Given the description of an element on the screen output the (x, y) to click on. 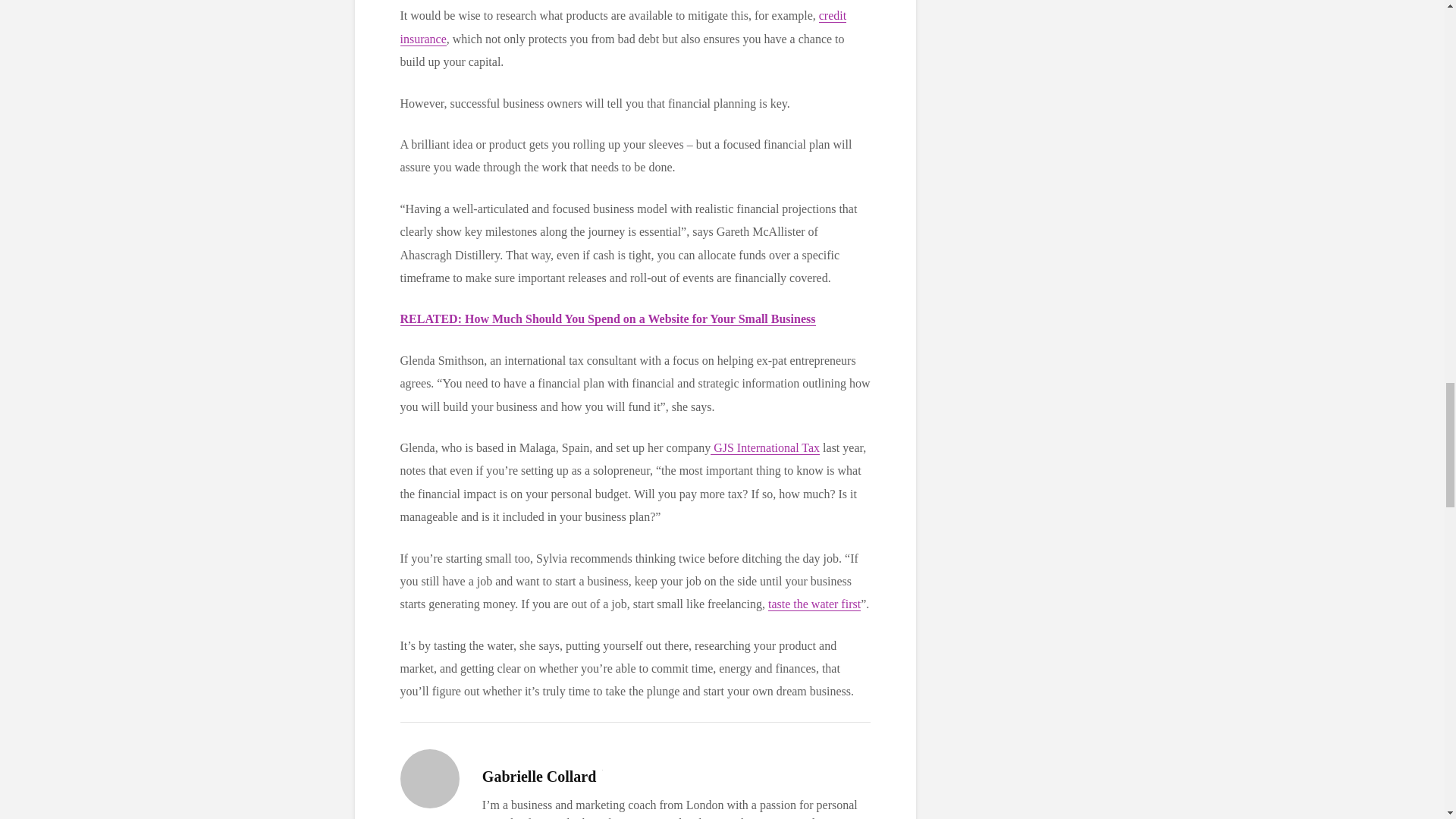
GJS International Tax (764, 448)
taste the water first (814, 603)
credit insurance (623, 27)
